Given the description of an element on the screen output the (x, y) to click on. 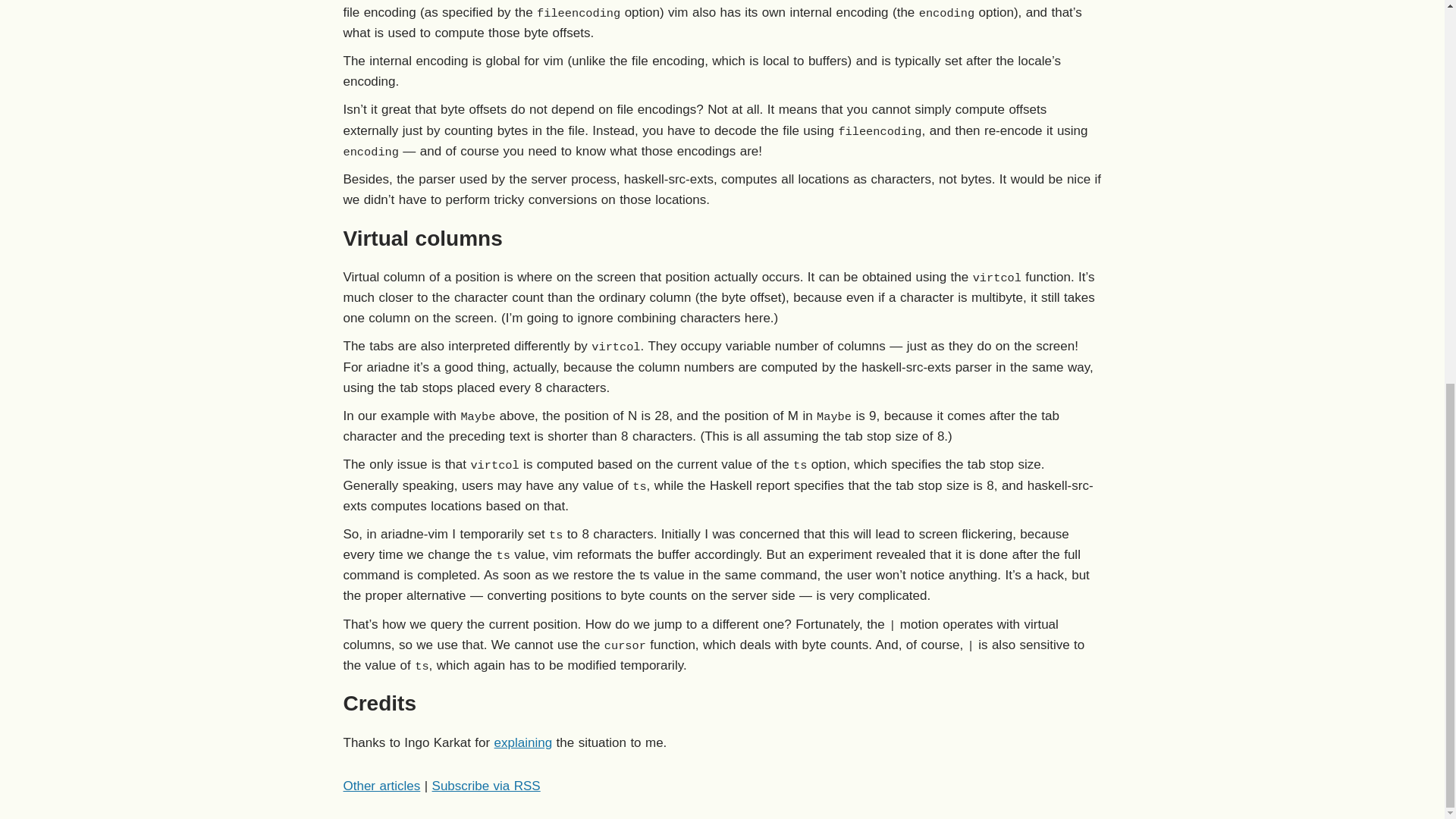
explaining (524, 742)
Other articles (381, 785)
Subscribe via RSS (486, 785)
